Given the description of an element on the screen output the (x, y) to click on. 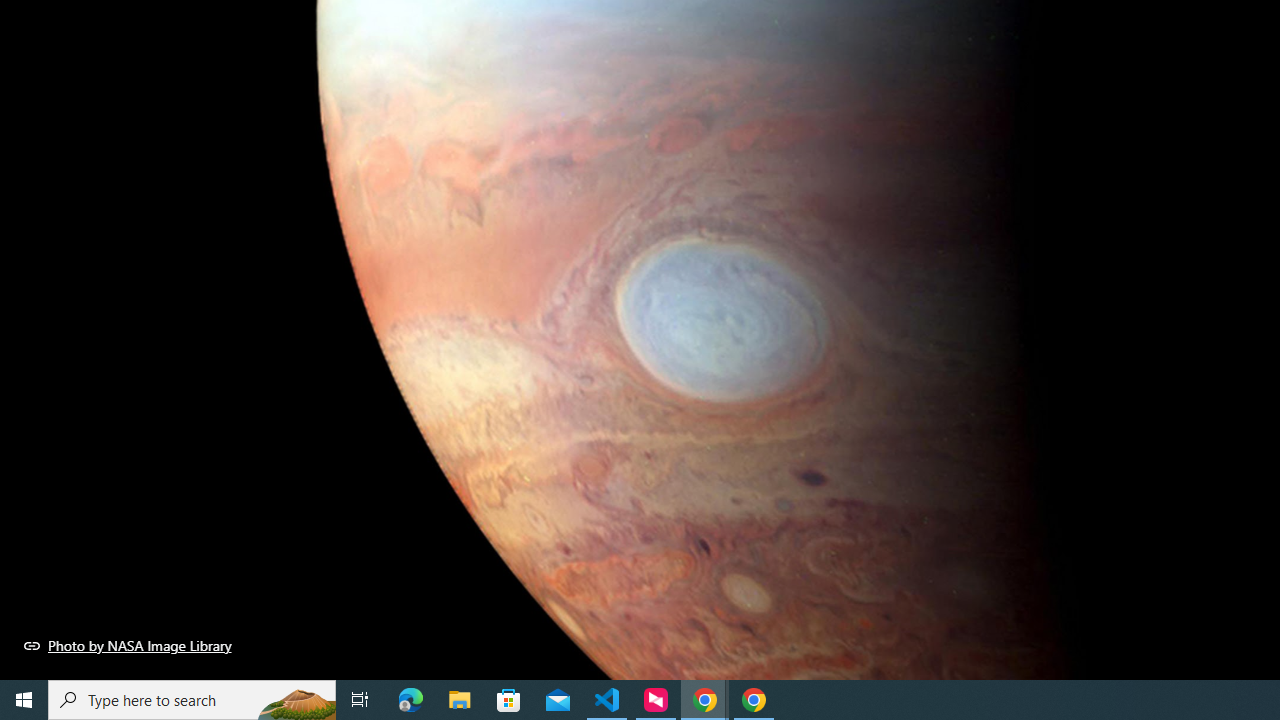
Photo by NASA Image Library (127, 645)
